Given the description of an element on the screen output the (x, y) to click on. 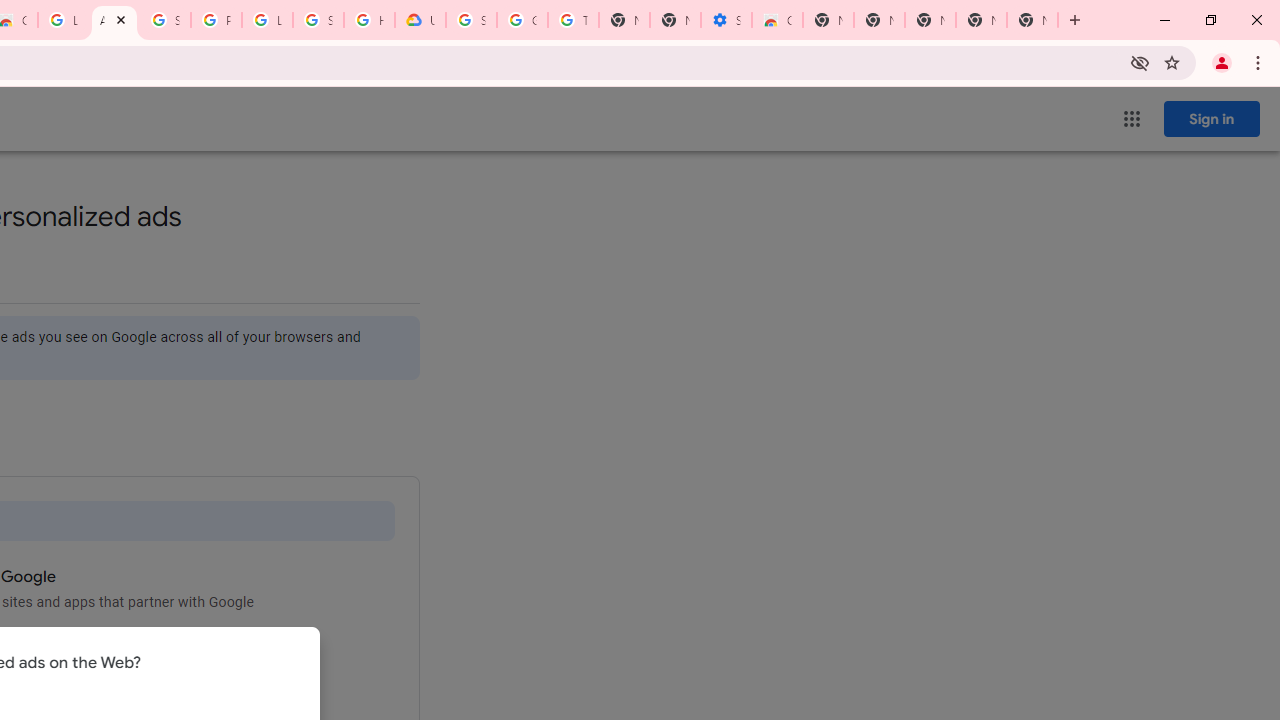
Sign in - Google Accounts (318, 20)
New Tab (827, 20)
Google Account Help (521, 20)
New Tab (1032, 20)
Sign in - Google Accounts (470, 20)
